Given the description of an element on the screen output the (x, y) to click on. 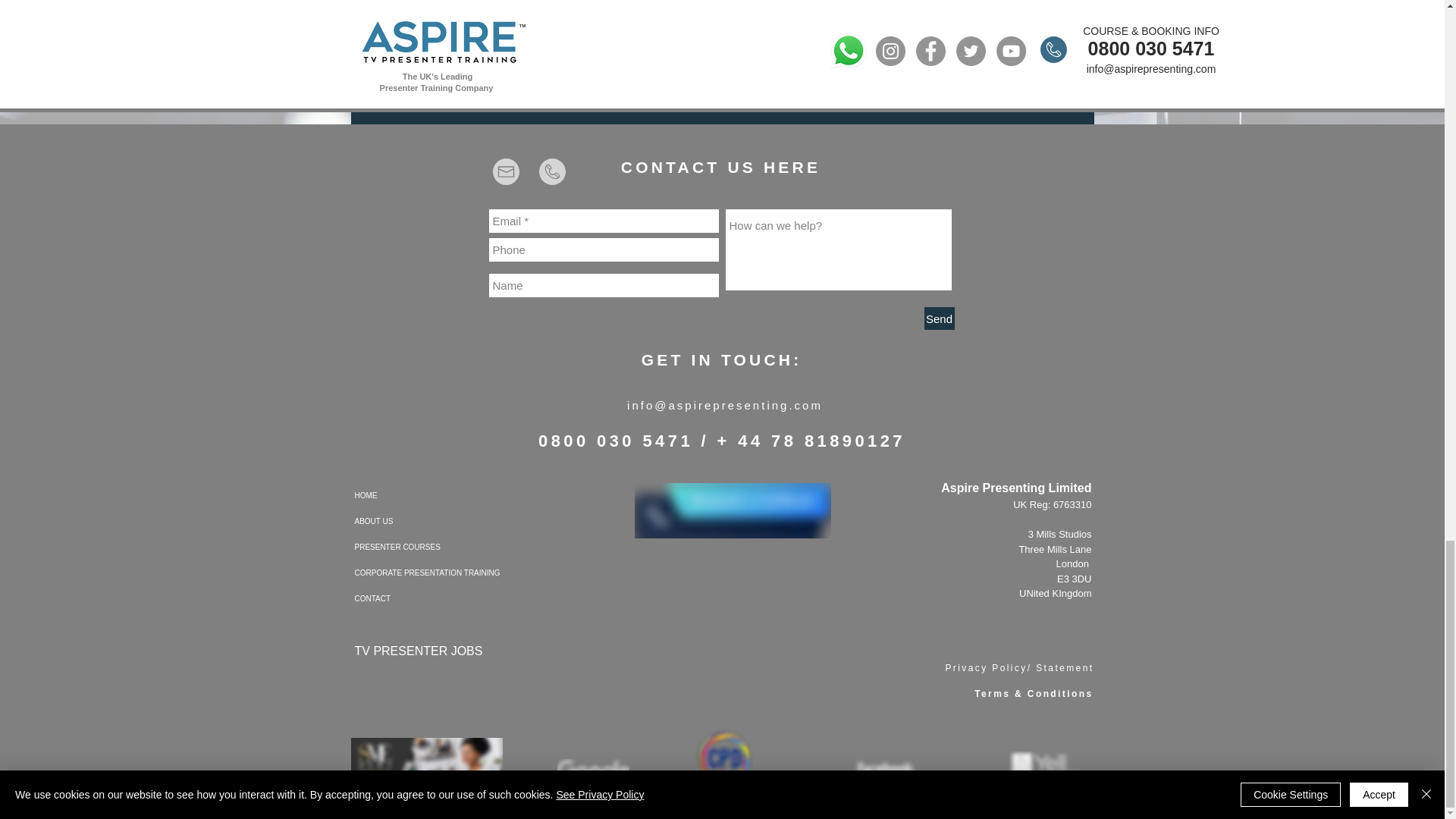
0 (435, 68)
